Given the description of an element on the screen output the (x, y) to click on. 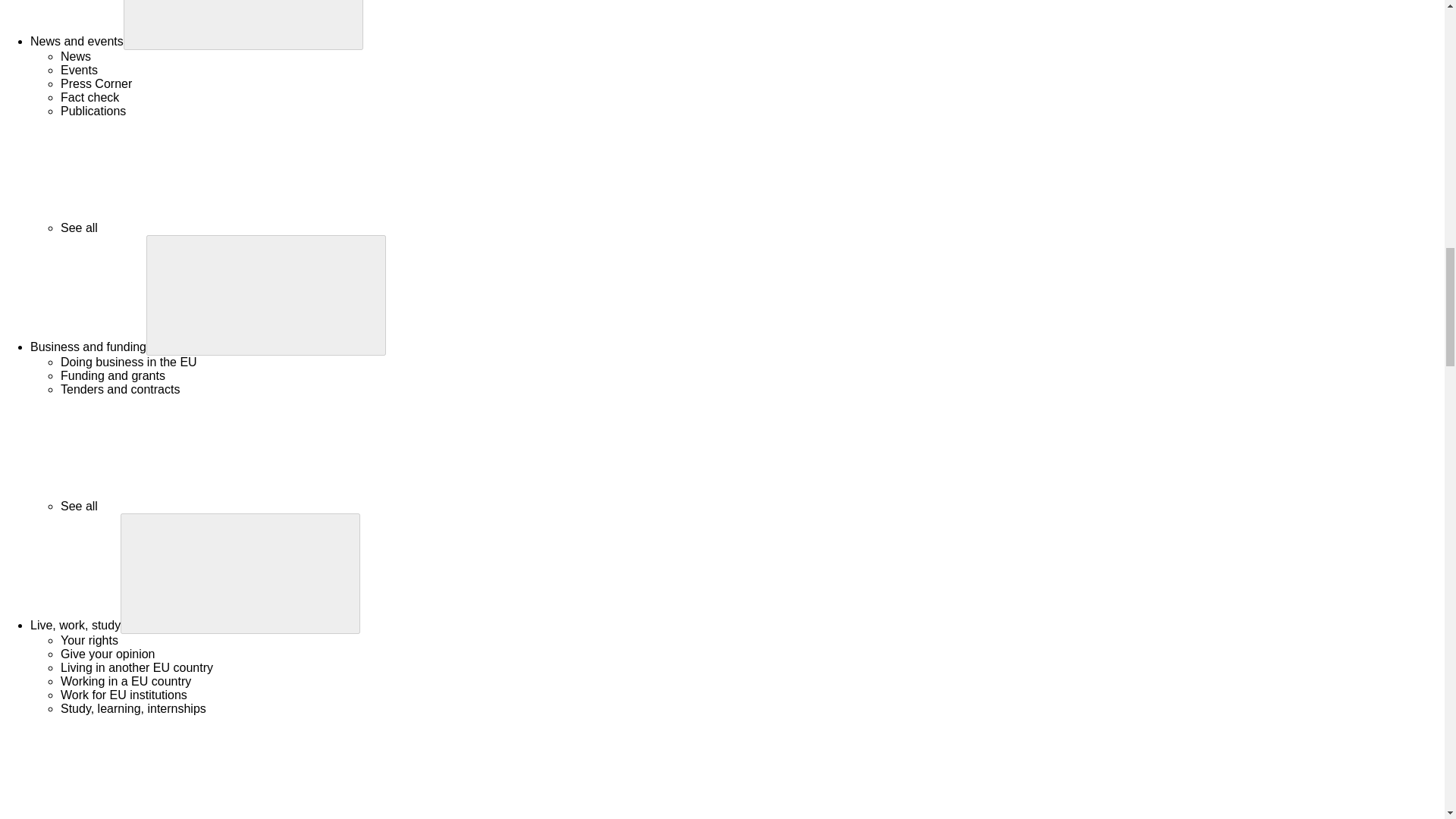
Doing business in the EU (128, 361)
Business and funding (88, 346)
See all (192, 227)
Fact check (90, 97)
Press Corner (96, 83)
News and events (76, 41)
News (75, 56)
Events (79, 69)
Publications (93, 110)
